Given the description of an element on the screen output the (x, y) to click on. 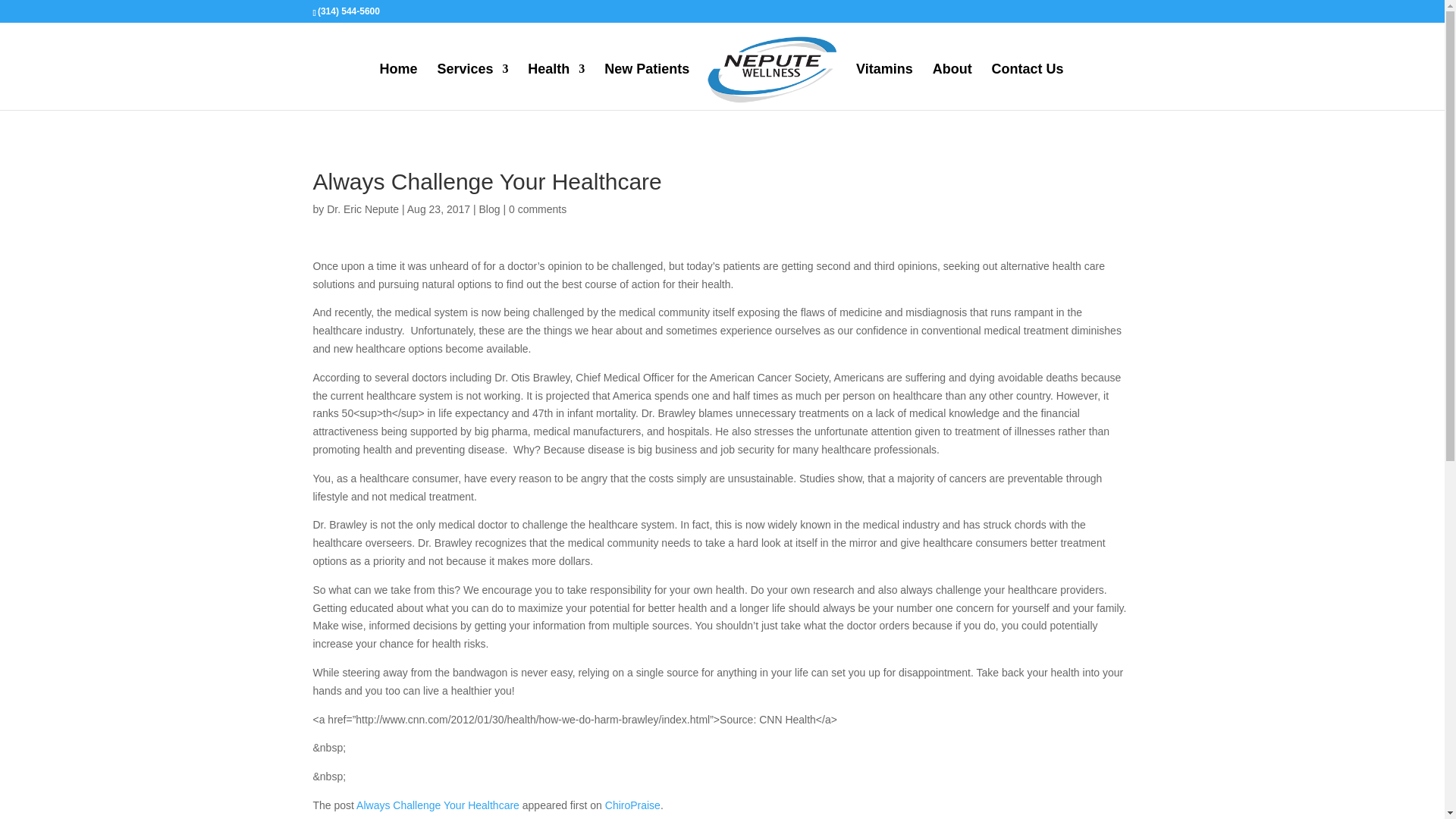
Vitamins (884, 86)
New Patients (646, 86)
Contact Us (1027, 86)
Posts by Dr. Eric Nepute (362, 209)
Services (472, 86)
Health (556, 86)
